Given the description of an element on the screen output the (x, y) to click on. 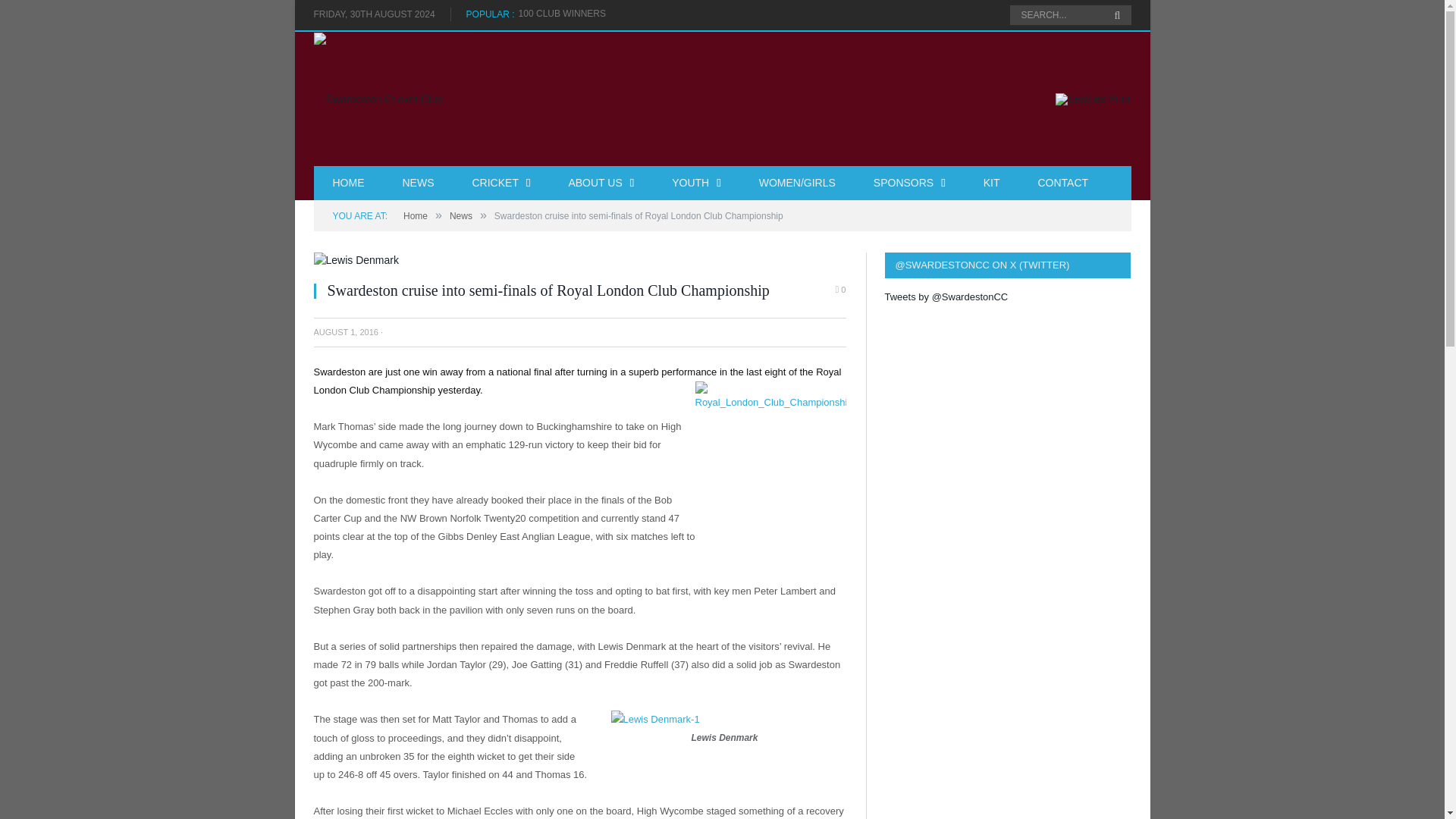
CRICKET (501, 182)
NEWS (418, 182)
HOME (349, 182)
ABOUT US (600, 182)
Swardeston Cricket Club (378, 98)
100 Club winners (565, 14)
100 CLUB WINNERS (565, 14)
